Given the description of an element on the screen output the (x, y) to click on. 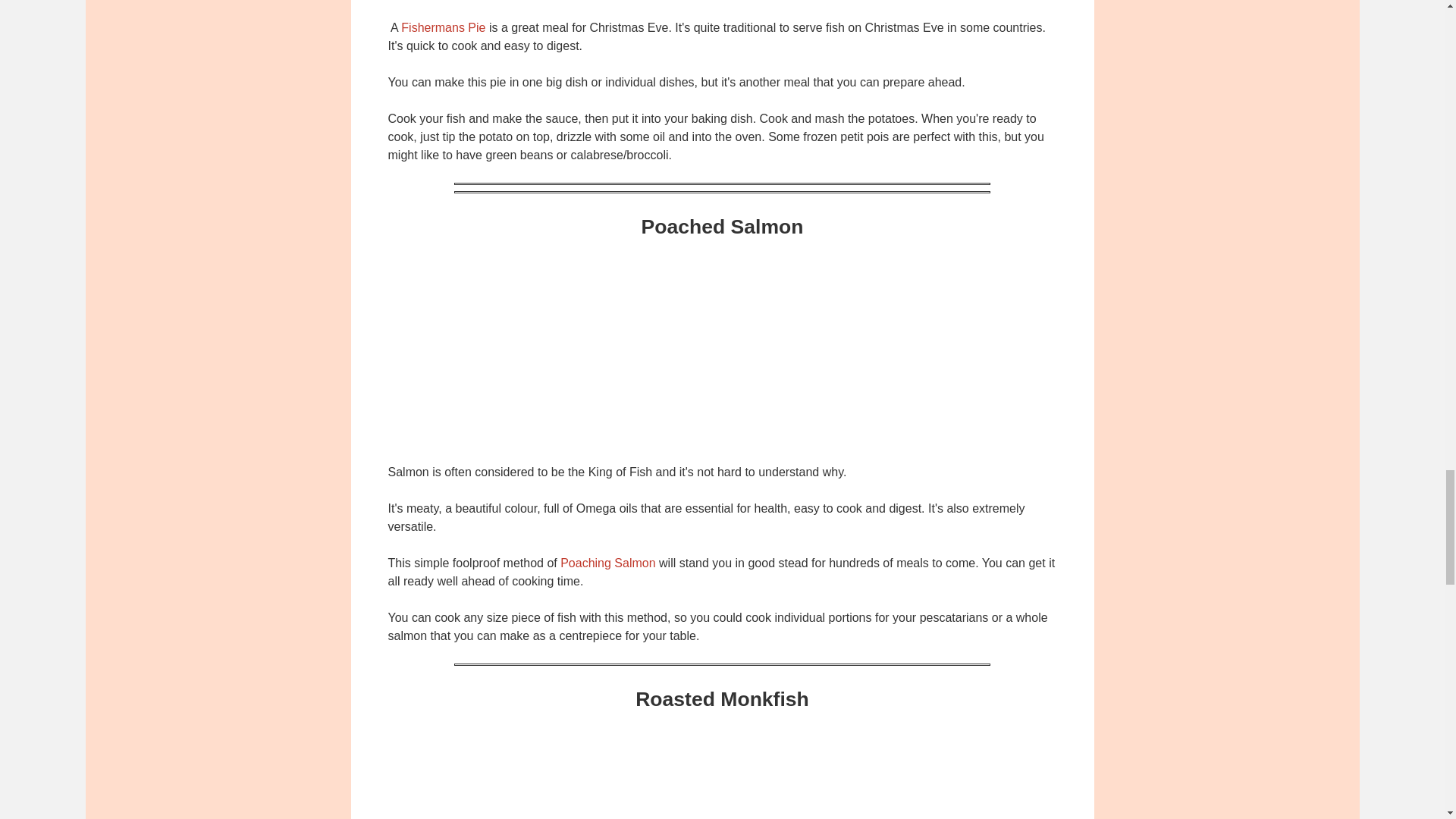
roasted monkfish wrapped in bacon with potatoes, beans and (722, 771)
poached salmon with new potatoes (722, 347)
